Given the description of an element on the screen output the (x, y) to click on. 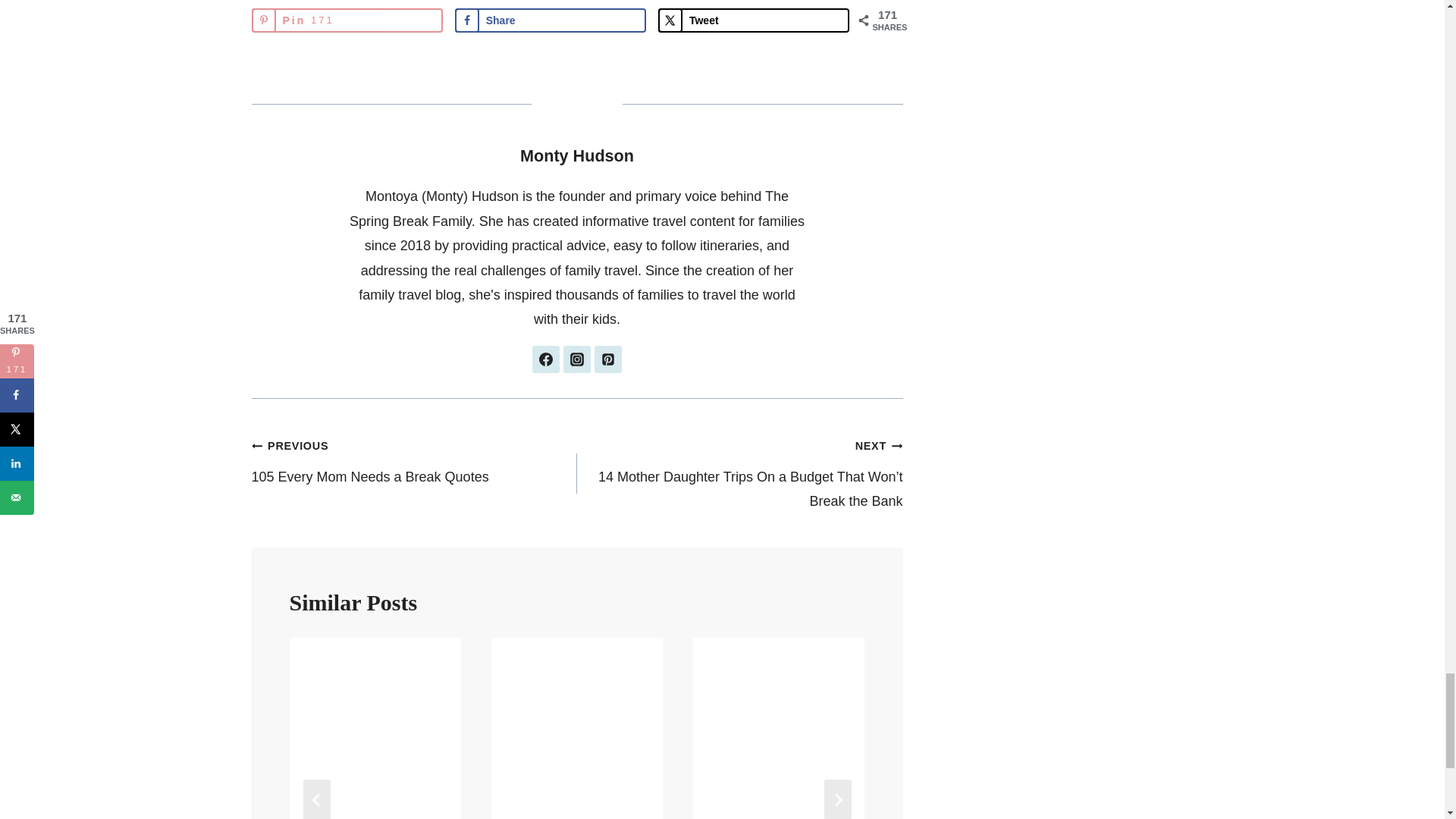
Follow Monty Hudson on Facebook (545, 359)
Save to Pinterest (346, 20)
Posts by Monty Hudson (576, 155)
Follow Monty Hudson on Instagram (577, 359)
Share on Facebook (550, 20)
Follow Monty Hudson on Pinterest (607, 359)
Share on X (753, 20)
